Given the description of an element on the screen output the (x, y) to click on. 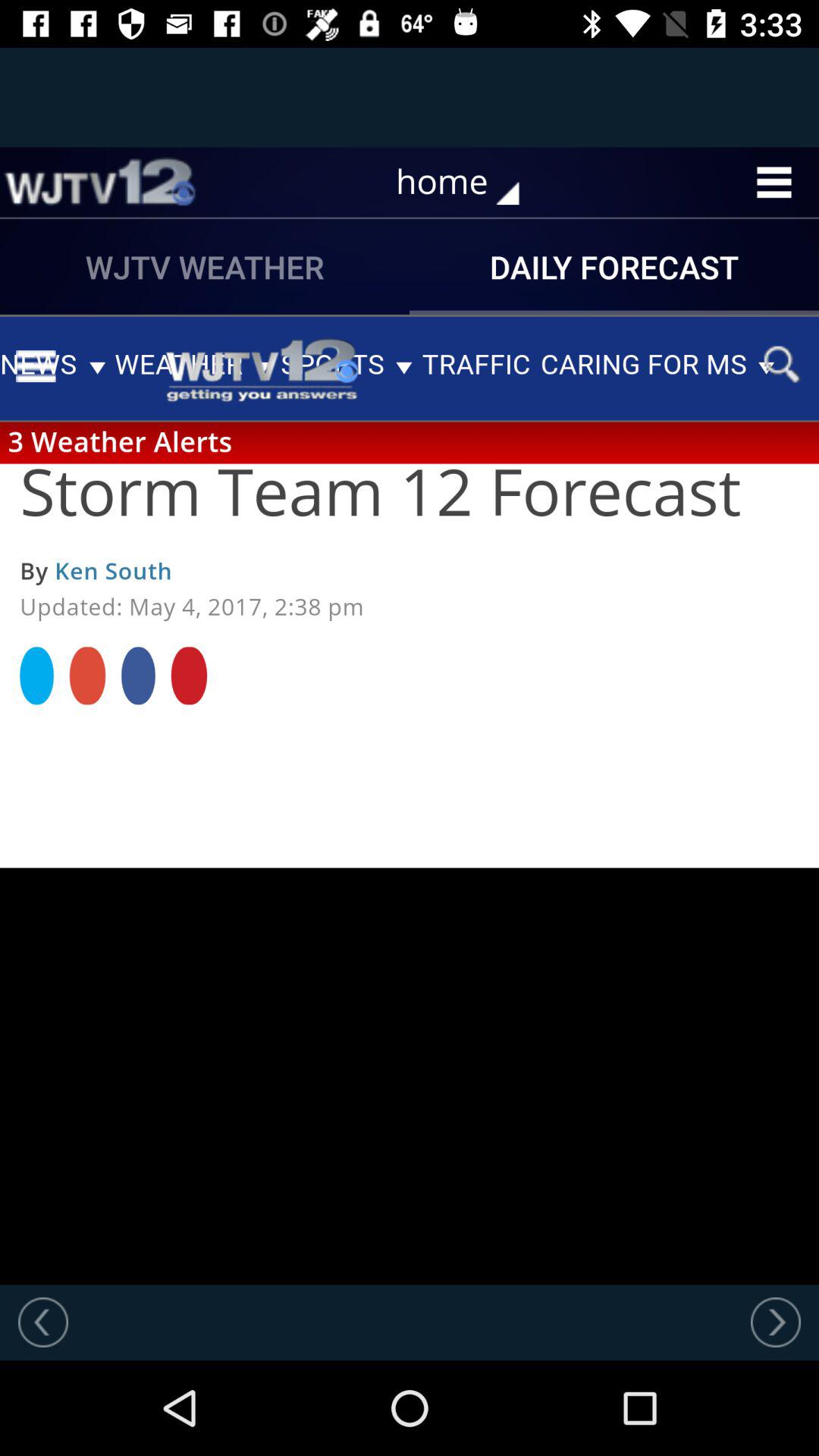
logo go to home (99, 182)
